Given the description of an element on the screen output the (x, y) to click on. 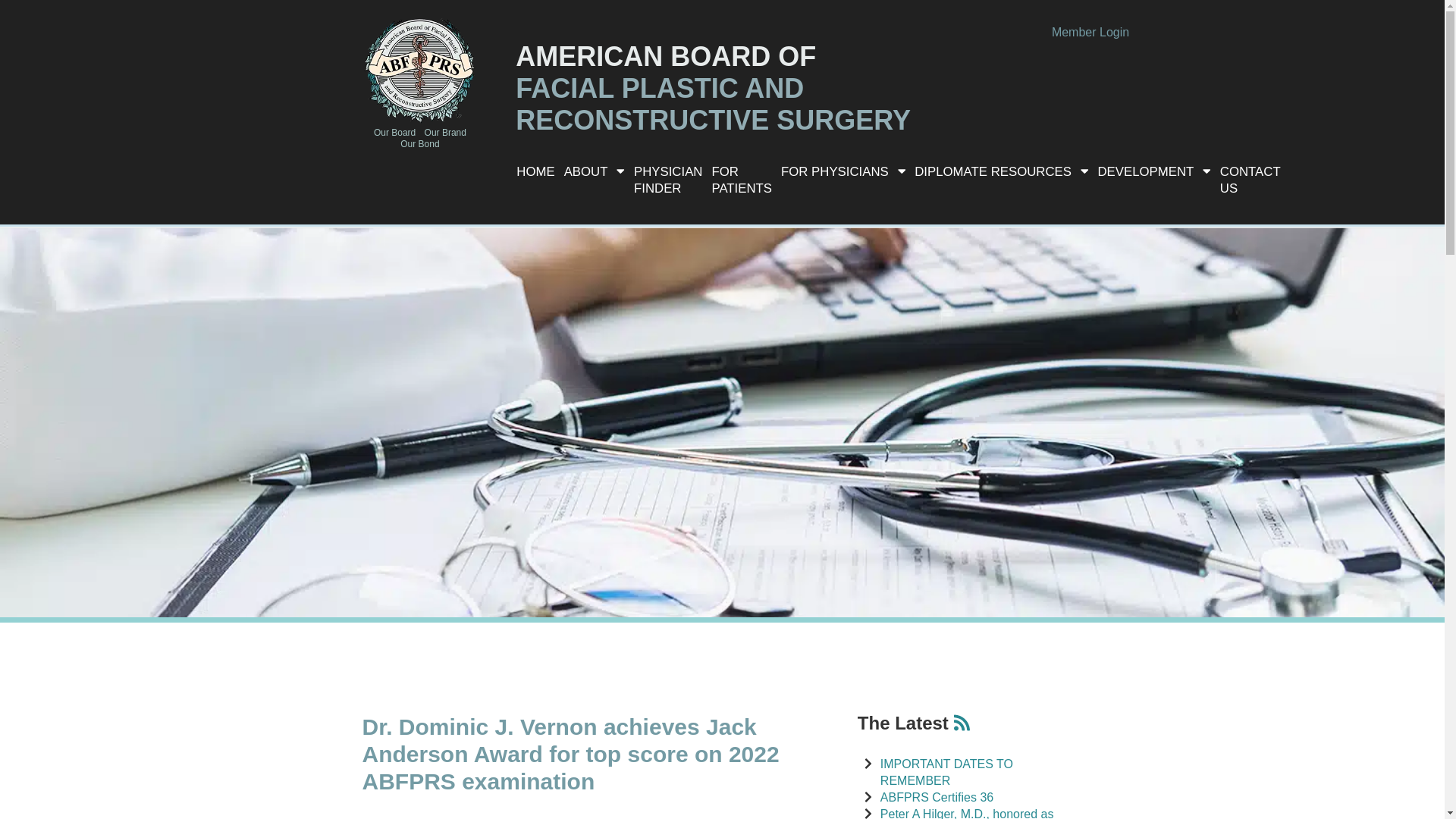
HOME (535, 171)
DEVELOPMENT (1153, 171)
About (593, 171)
FOR PHYSICIANS (843, 171)
PHYSICIAN FINDER (667, 179)
Member Login (1090, 31)
ABOUT (593, 171)
Home (535, 171)
DIPLOMATE RESOURCES (1001, 171)
FOR PATIENTS (741, 179)
